Given the description of an element on the screen output the (x, y) to click on. 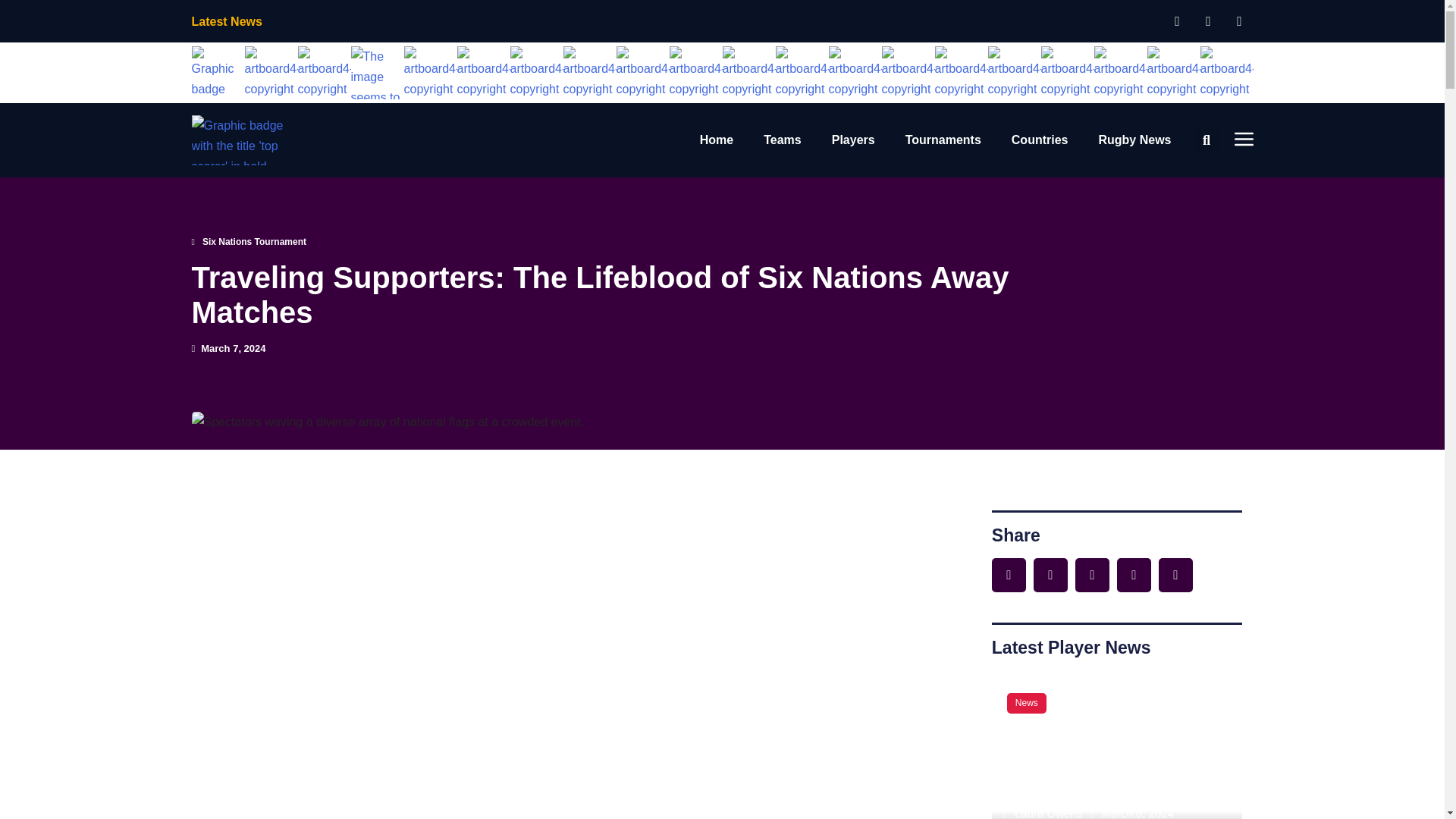
Teams (782, 140)
Countries (1039, 140)
Tournaments (943, 140)
Players (853, 140)
Home (716, 140)
Rugby News (1133, 140)
